Given the description of an element on the screen output the (x, y) to click on. 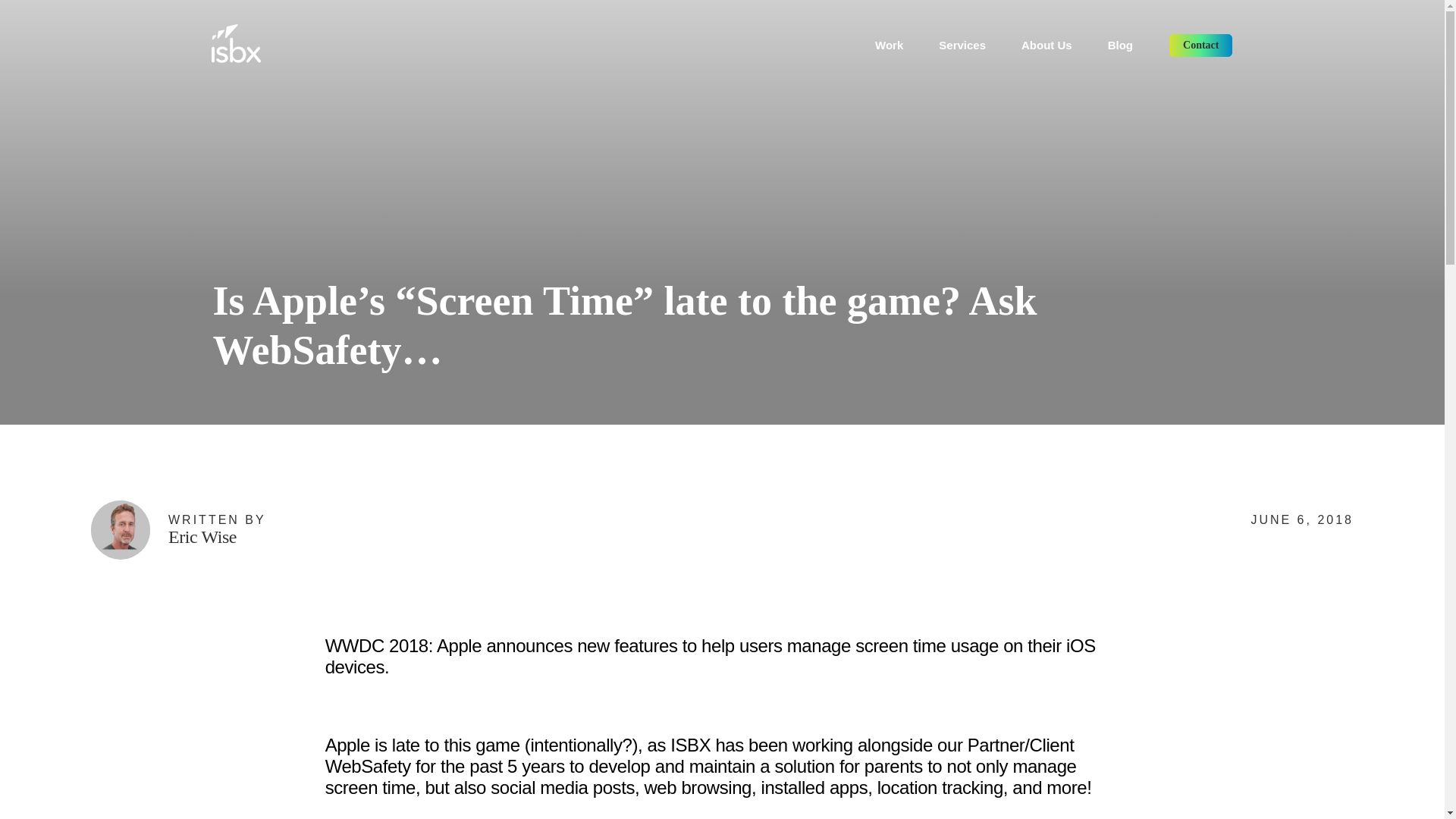
Services (962, 44)
Contact (1201, 45)
Work (888, 44)
About Us (1046, 44)
Blog (1120, 44)
